Given the description of an element on the screen output the (x, y) to click on. 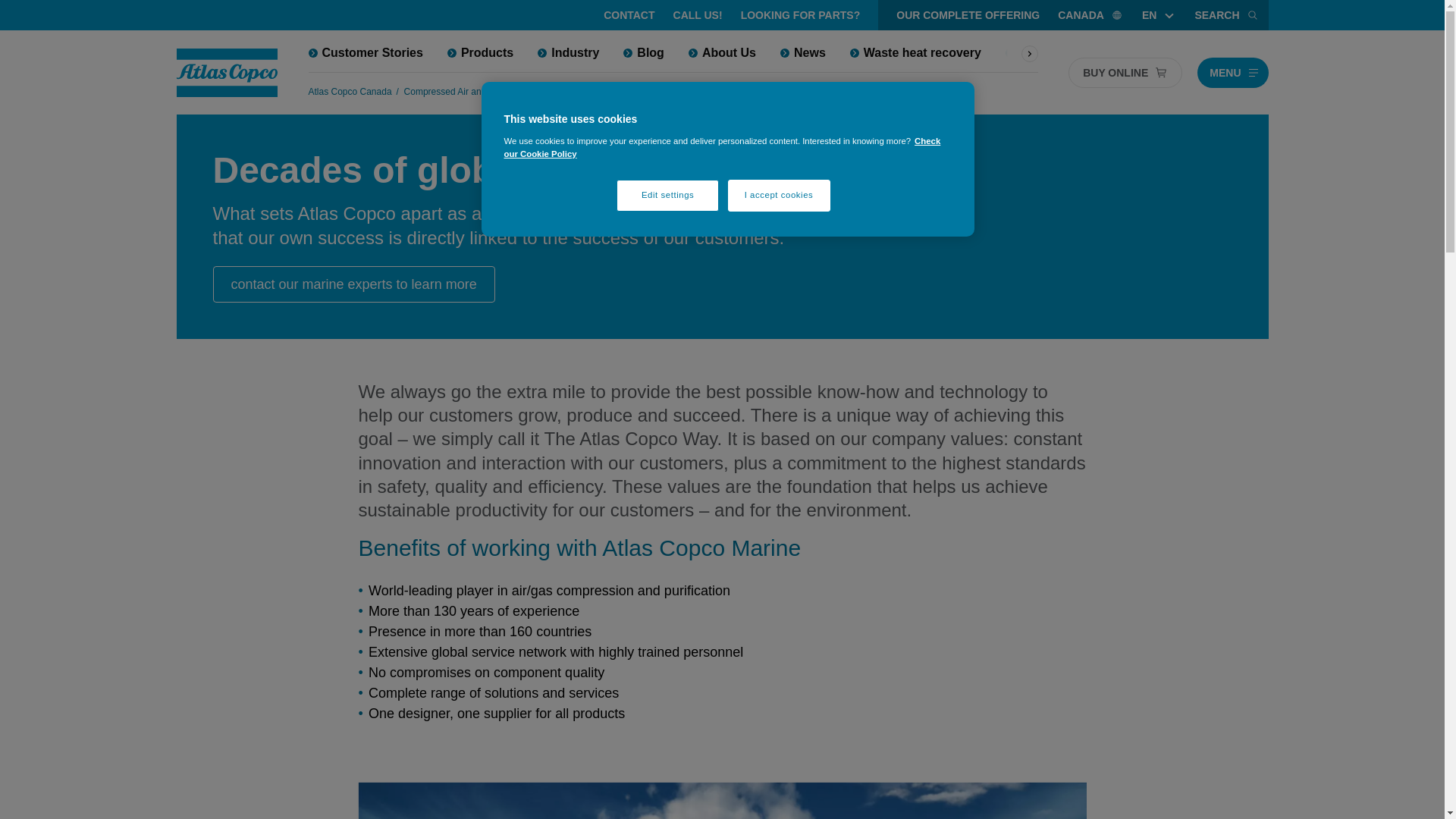
Compressed Air and Gas solutions (474, 91)
CALL US! (697, 15)
Industry (572, 91)
SEARCH (1226, 15)
CANADA (1090, 15)
CONTACT (628, 15)
Service and Parts (1062, 52)
Marine (613, 91)
MENU (1232, 72)
Atlas Copco Canada (349, 91)
